Given the description of an element on the screen output the (x, y) to click on. 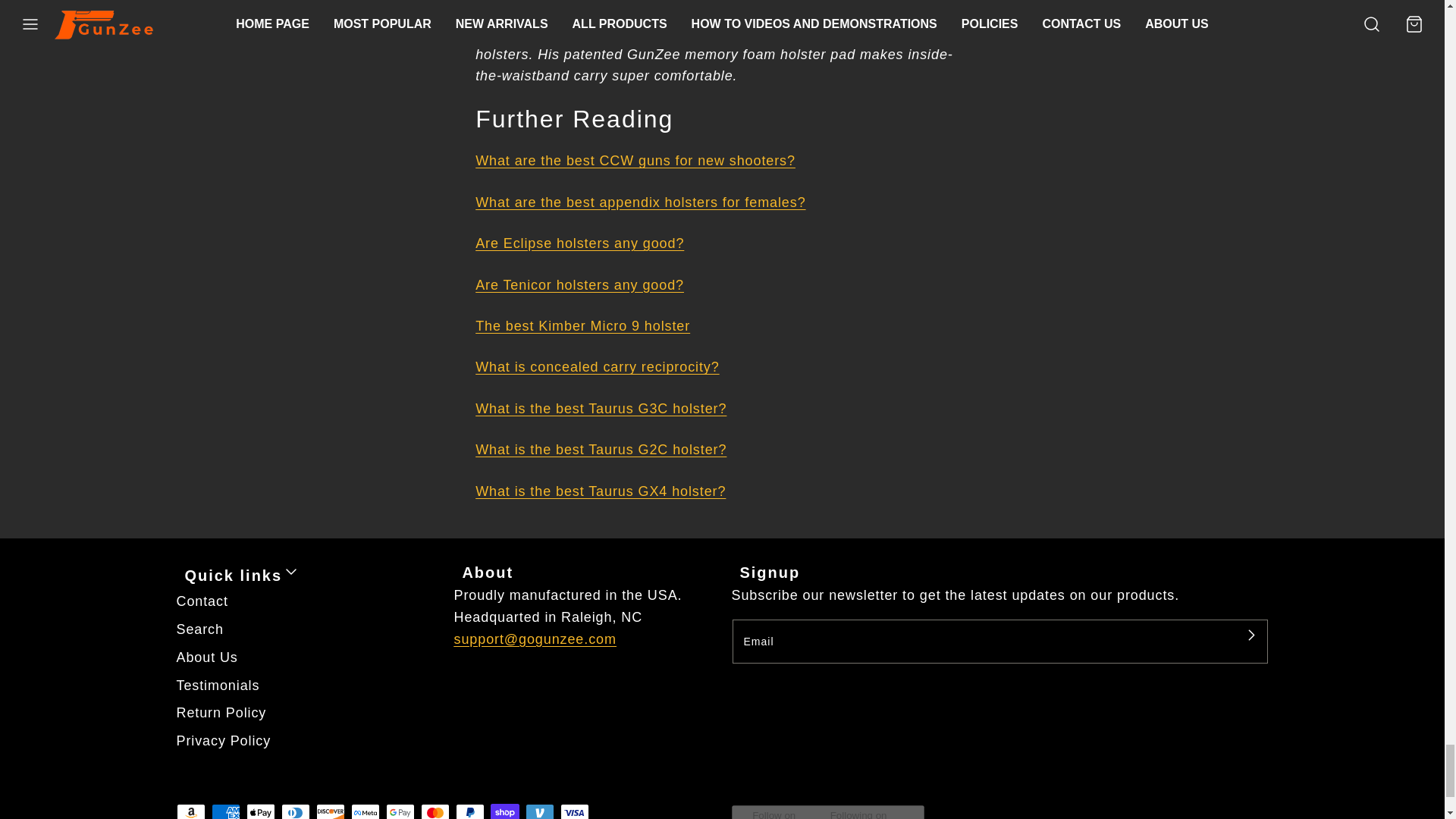
Meta Pay (364, 811)
Venmo (538, 811)
PayPal (468, 811)
Visa (573, 811)
Mastercard (434, 811)
Shop Pay (503, 811)
American Express (225, 811)
Apple Pay (260, 811)
Google Pay (399, 811)
Amazon (190, 811)
